Given the description of an element on the screen output the (x, y) to click on. 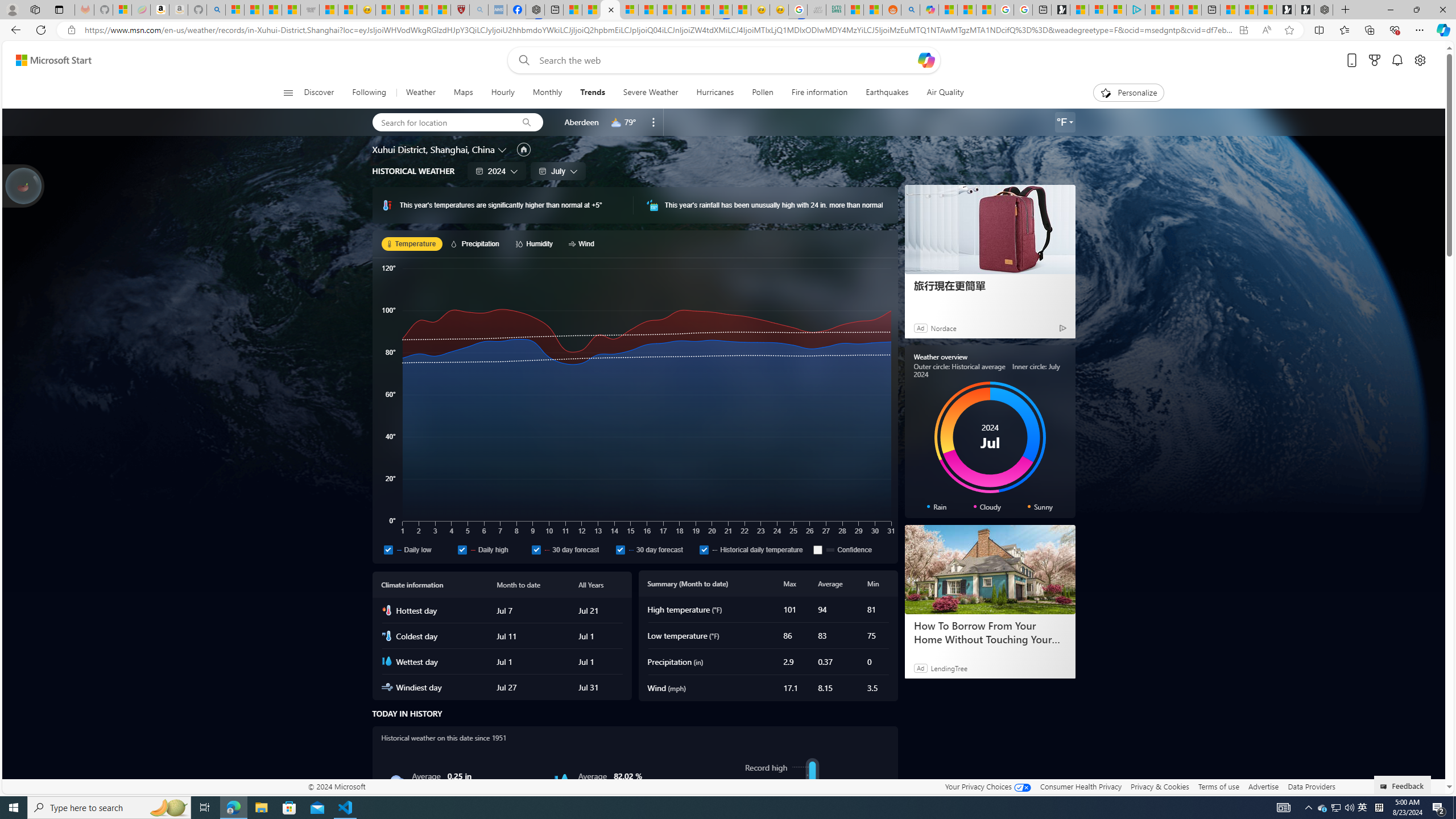
Join us in planting real trees to help our planet! (23, 184)
Hourly (502, 92)
Enter your search term (726, 59)
30 day forecast (655, 549)
Confidence (849, 549)
Aberdeen (581, 121)
2024 (496, 170)
